Given the description of an element on the screen output the (x, y) to click on. 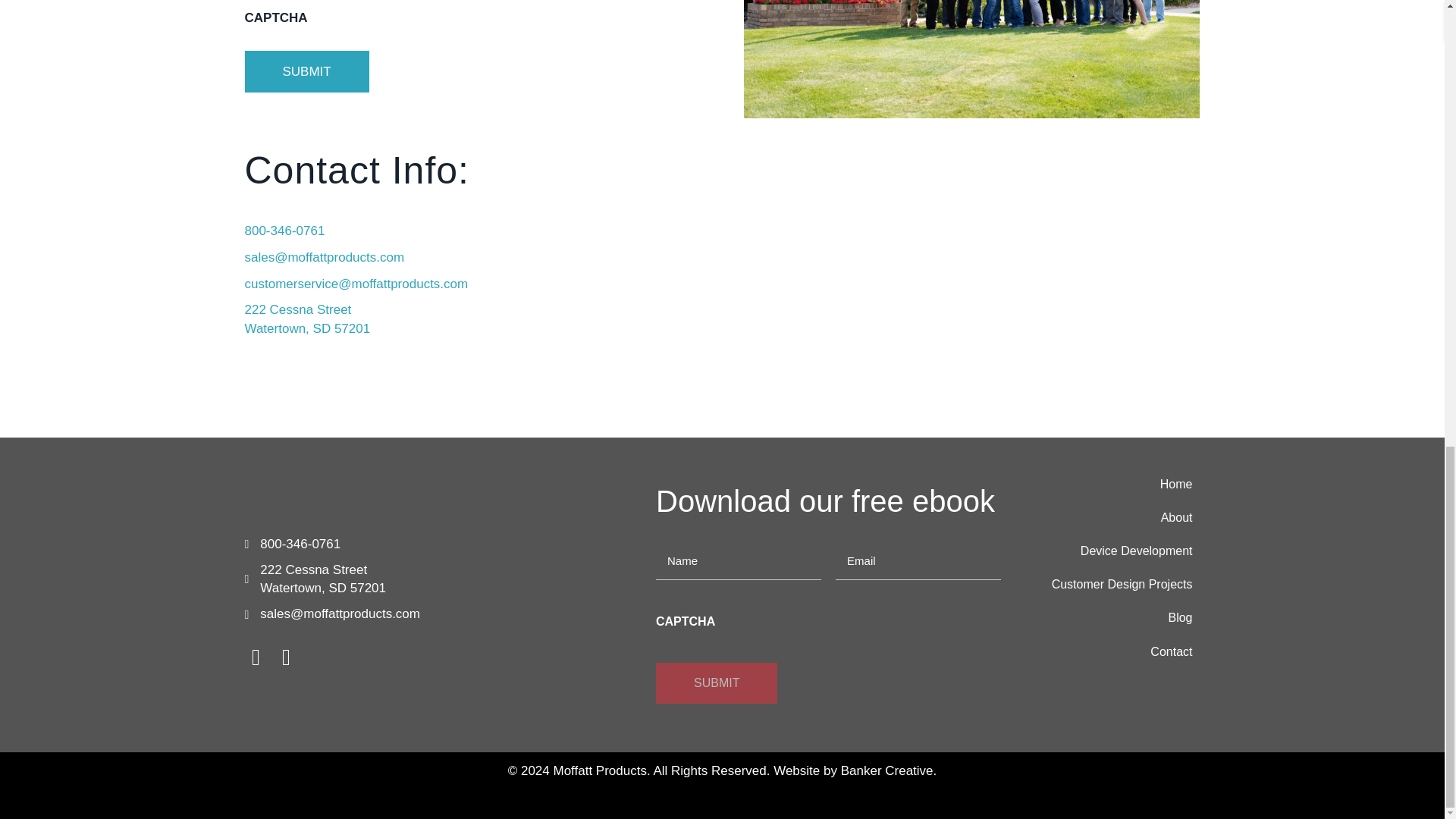
Submit (716, 682)
Moffatt Products Team Photo (970, 59)
About (1111, 517)
Submit (306, 71)
Submit (716, 682)
800-346-0761 (306, 318)
Moffatt logo vector white (300, 544)
800-346-0761 (320, 501)
